Given the description of an element on the screen output the (x, y) to click on. 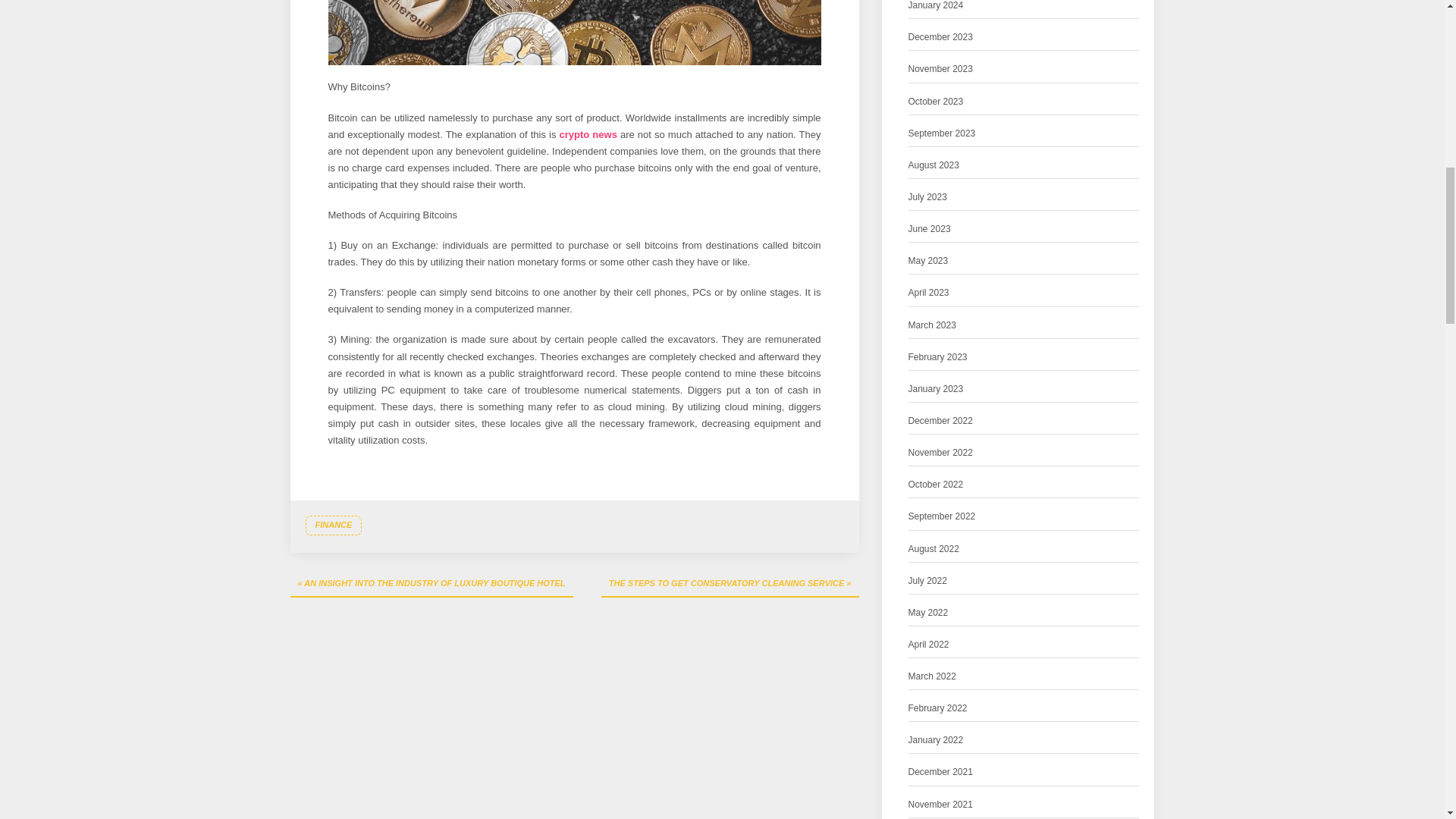
June 2023 (929, 229)
September 2023 (941, 133)
March 2023 (932, 325)
May 2023 (928, 261)
October 2023 (935, 101)
January 2024 (935, 6)
August 2023 (933, 165)
April 2023 (928, 293)
crypto news (588, 134)
AN INSIGHT INTO THE INDUSTRY OF LUXURY BOUTIQUE HOTEL (430, 584)
